Given the description of an element on the screen output the (x, y) to click on. 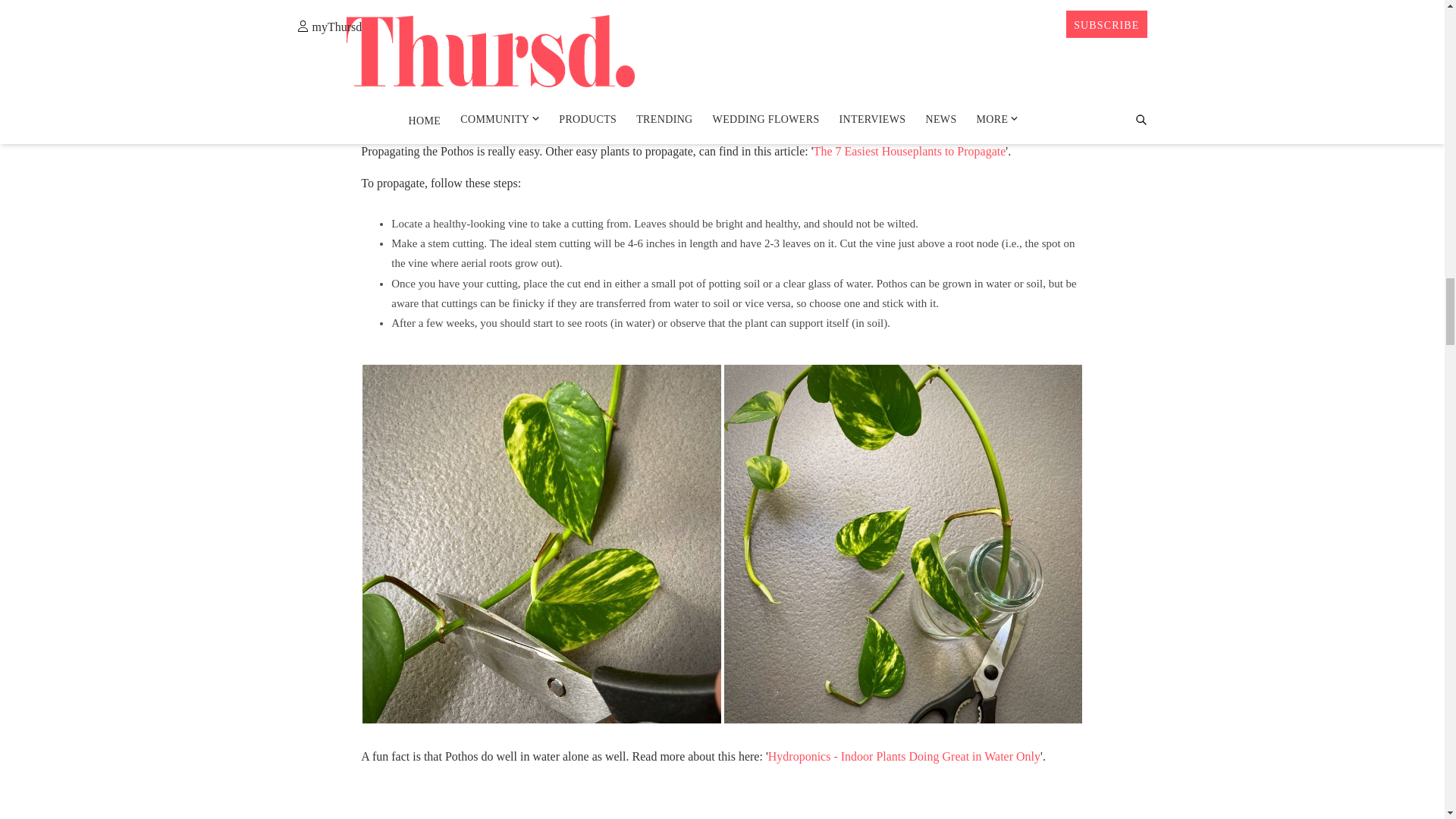
Golden pothos cutting for propagation (541, 543)
Golden pothos cutting in water for propagation (902, 543)
